Given the description of an element on the screen output the (x, y) to click on. 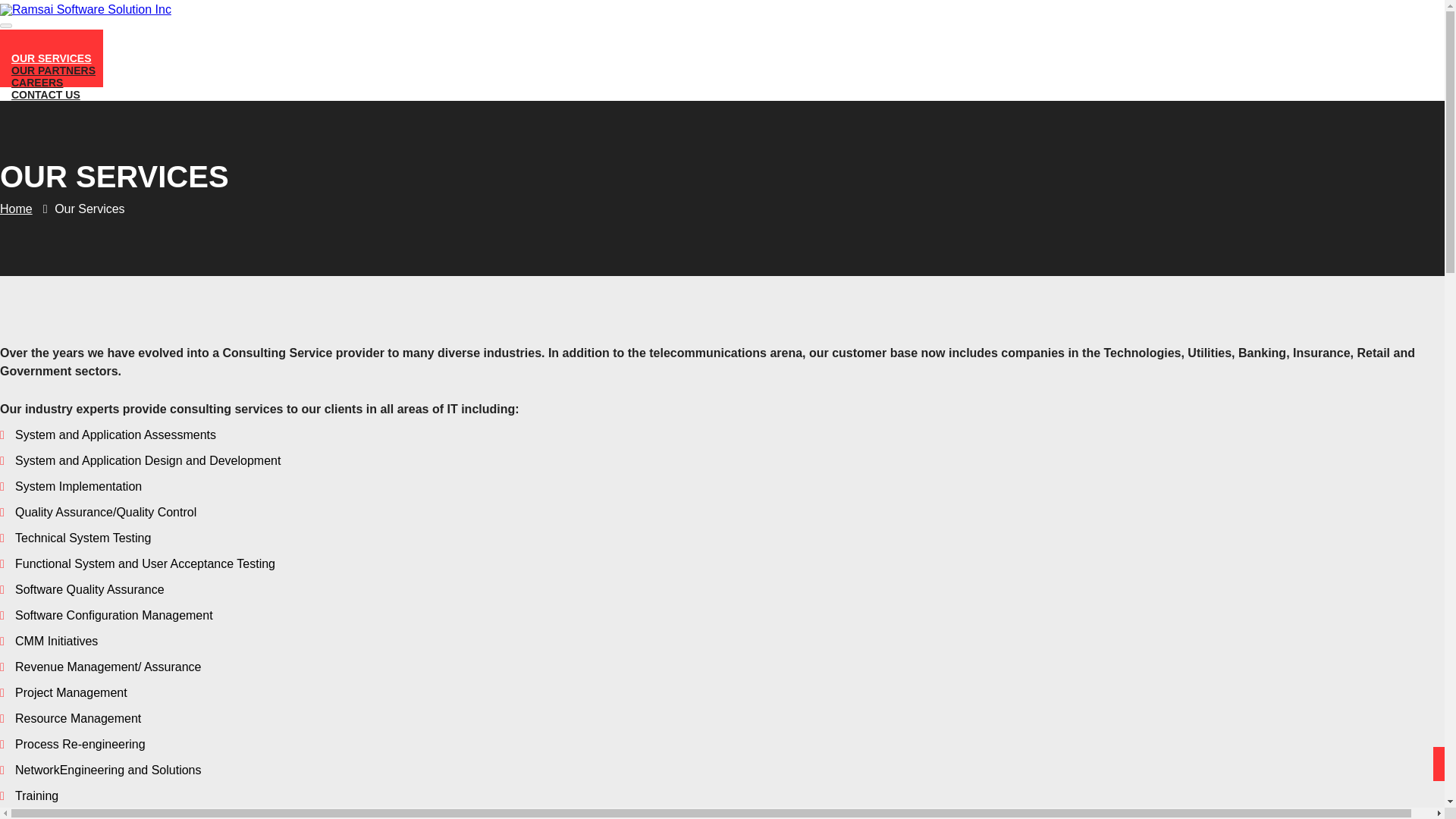
Home (16, 208)
HOME (27, 33)
OUR SERVICES (51, 57)
CONTACT US (45, 94)
Ramsai Software Solution Inc (85, 9)
OUR PARTNERS (53, 70)
CAREERS (37, 82)
ABOUT US (39, 46)
